Given the description of an element on the screen output the (x, y) to click on. 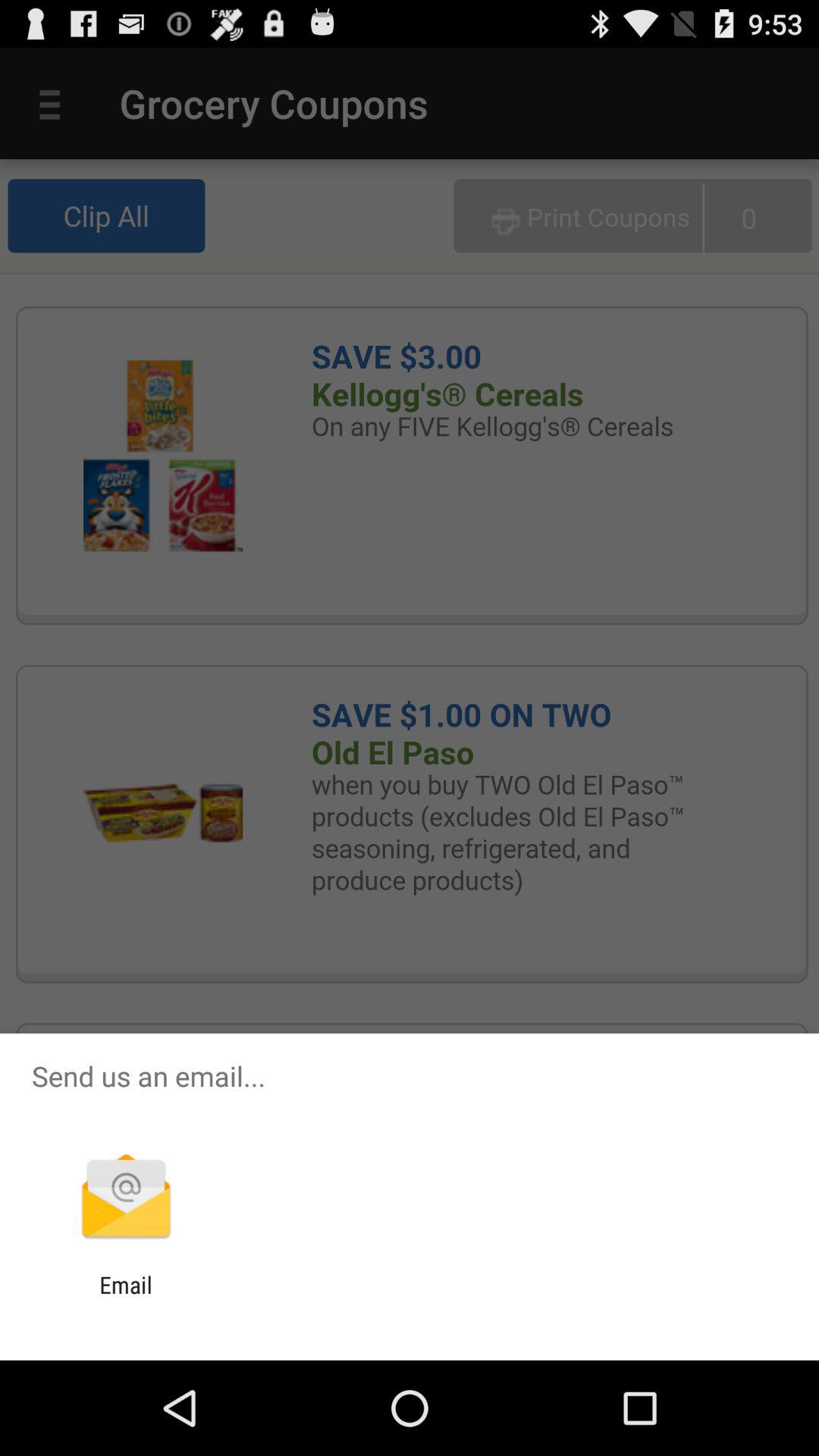
select the icon above the email item (126, 1198)
